Given the description of an element on the screen output the (x, y) to click on. 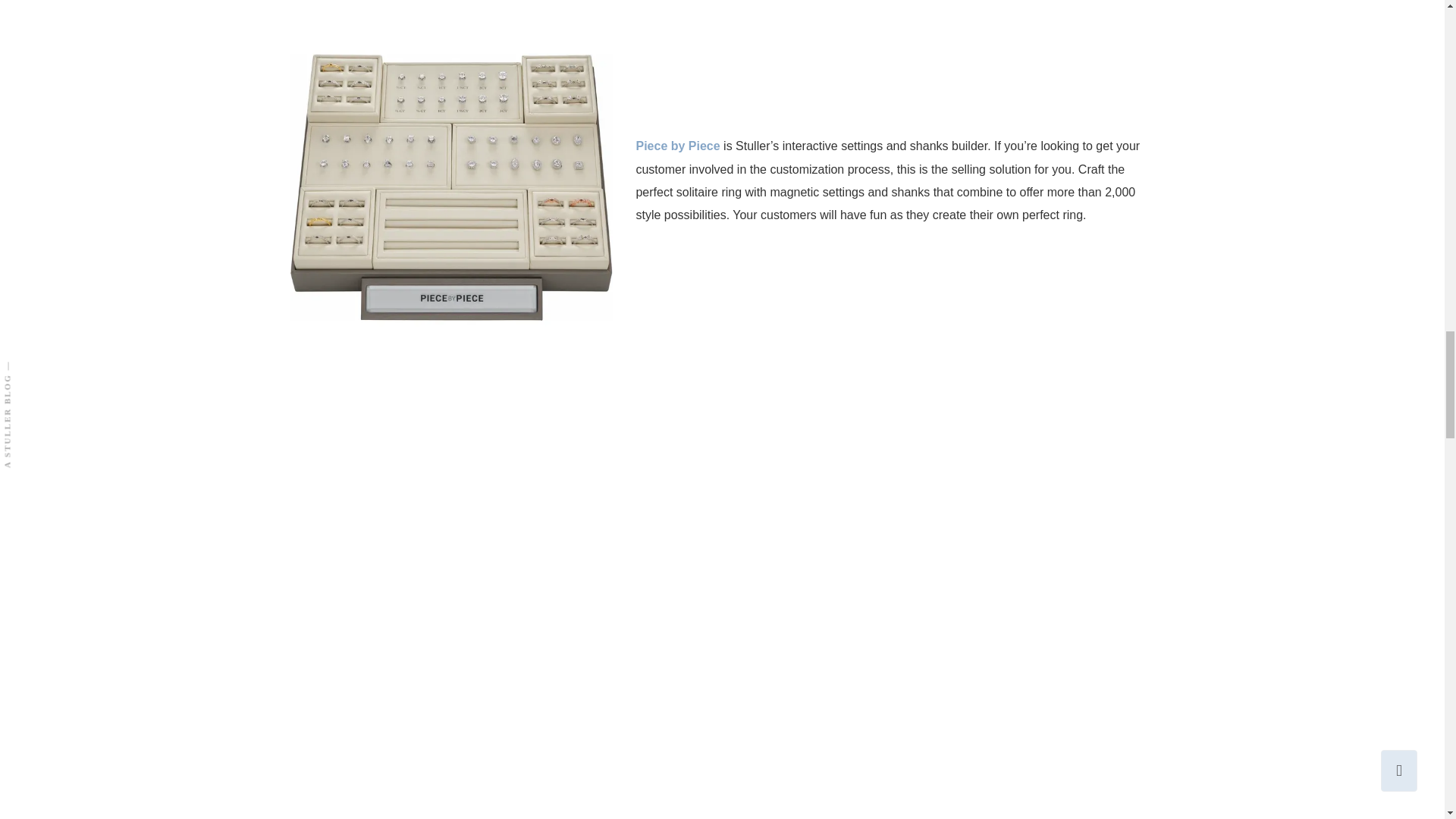
Piece by Piece (676, 145)
